Given the description of an element on the screen output the (x, y) to click on. 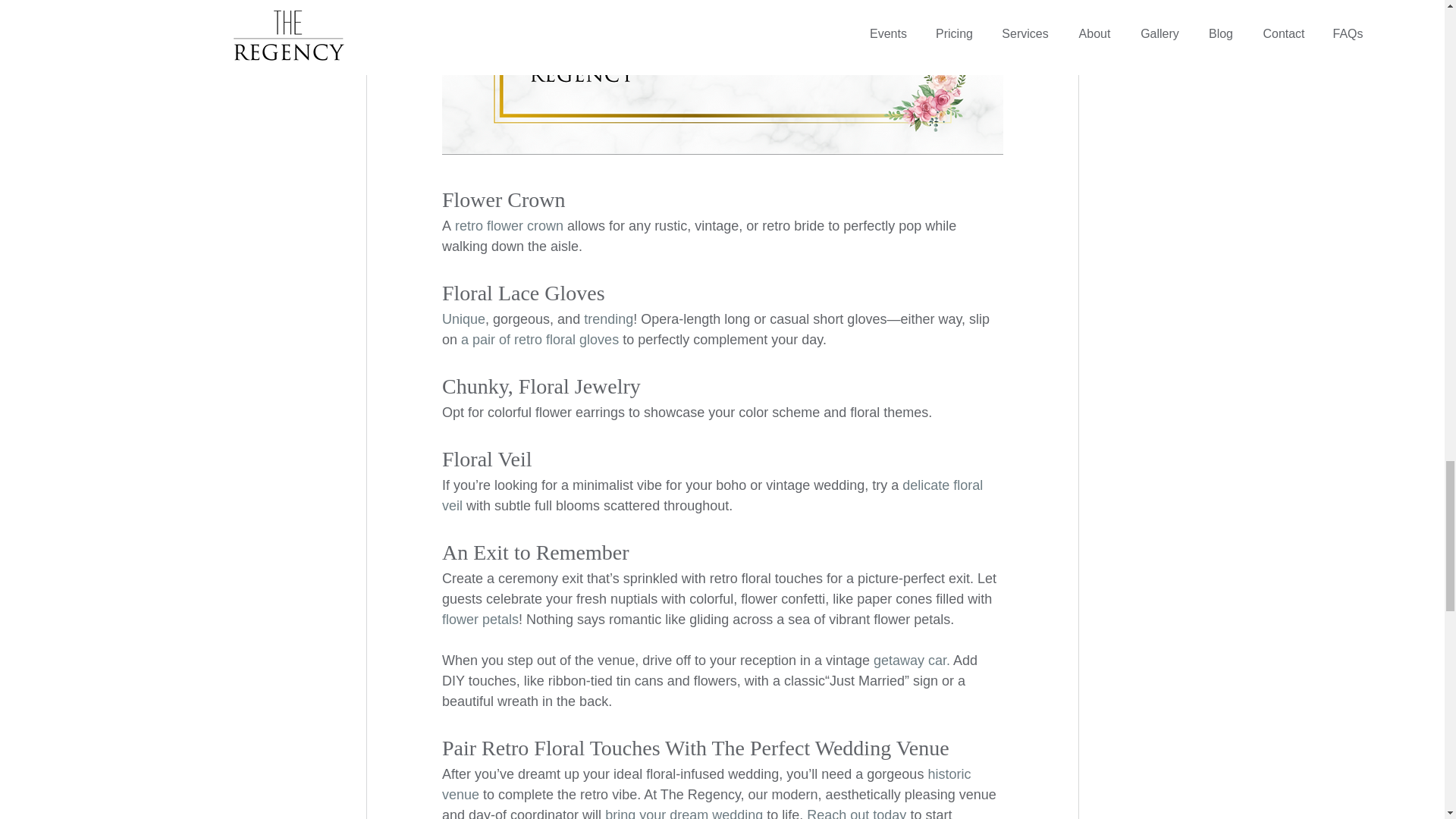
Reach out today (855, 813)
 a pair of retro floral gloves (537, 339)
historic venue (707, 784)
flower petals (479, 619)
trending (608, 319)
getaway car. (911, 660)
bring your dream wedding (683, 813)
Unique (462, 319)
delicate floral veil  (713, 495)
retro flower crown (508, 225)
